Given the description of an element on the screen output the (x, y) to click on. 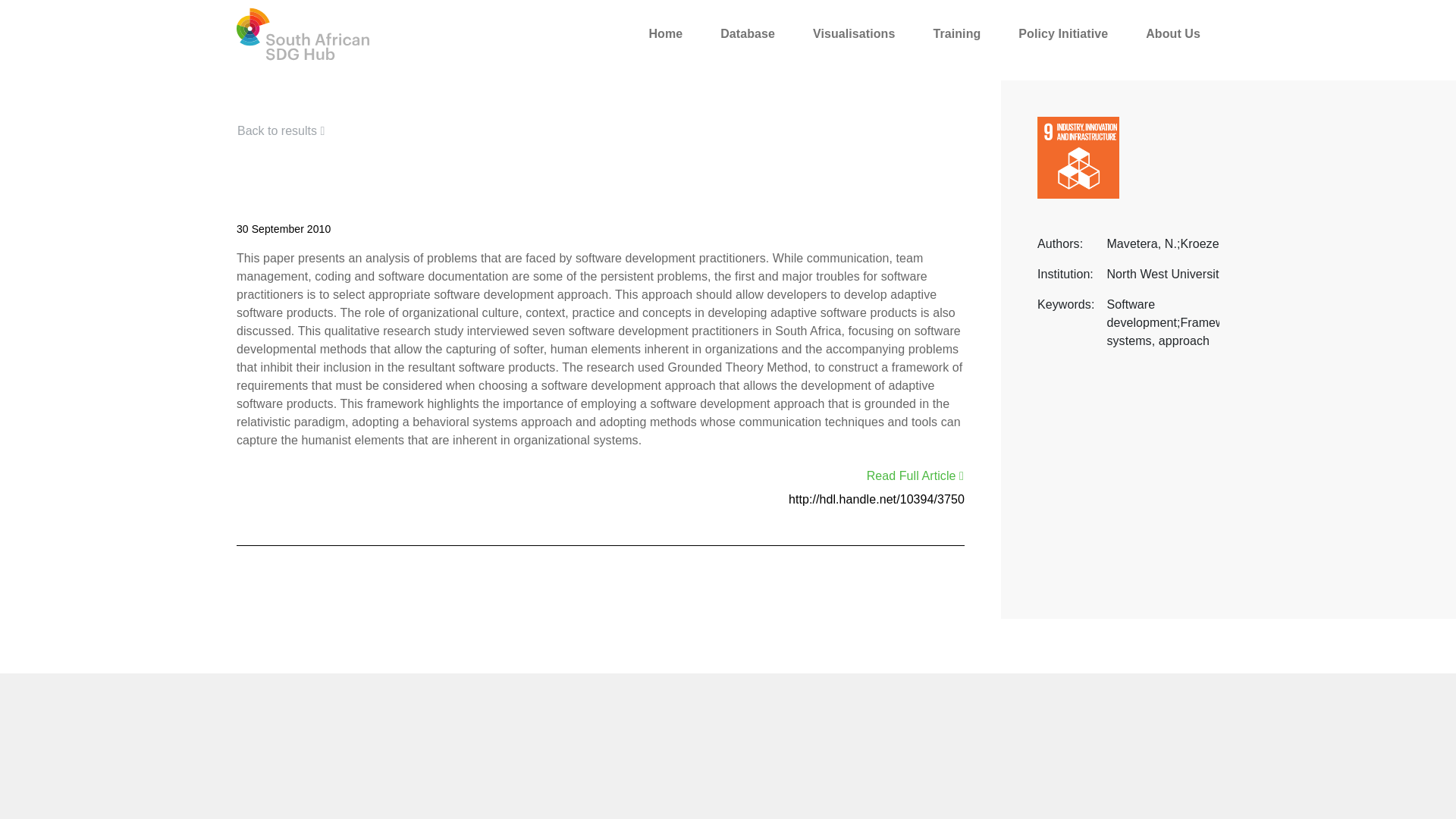
Policy Initiative (1062, 33)
Database (747, 33)
Training (956, 33)
About Us (1173, 33)
Home (664, 33)
Read Full Article (910, 475)
Visualisations (853, 33)
Back to results (284, 131)
